Given the description of an element on the screen output the (x, y) to click on. 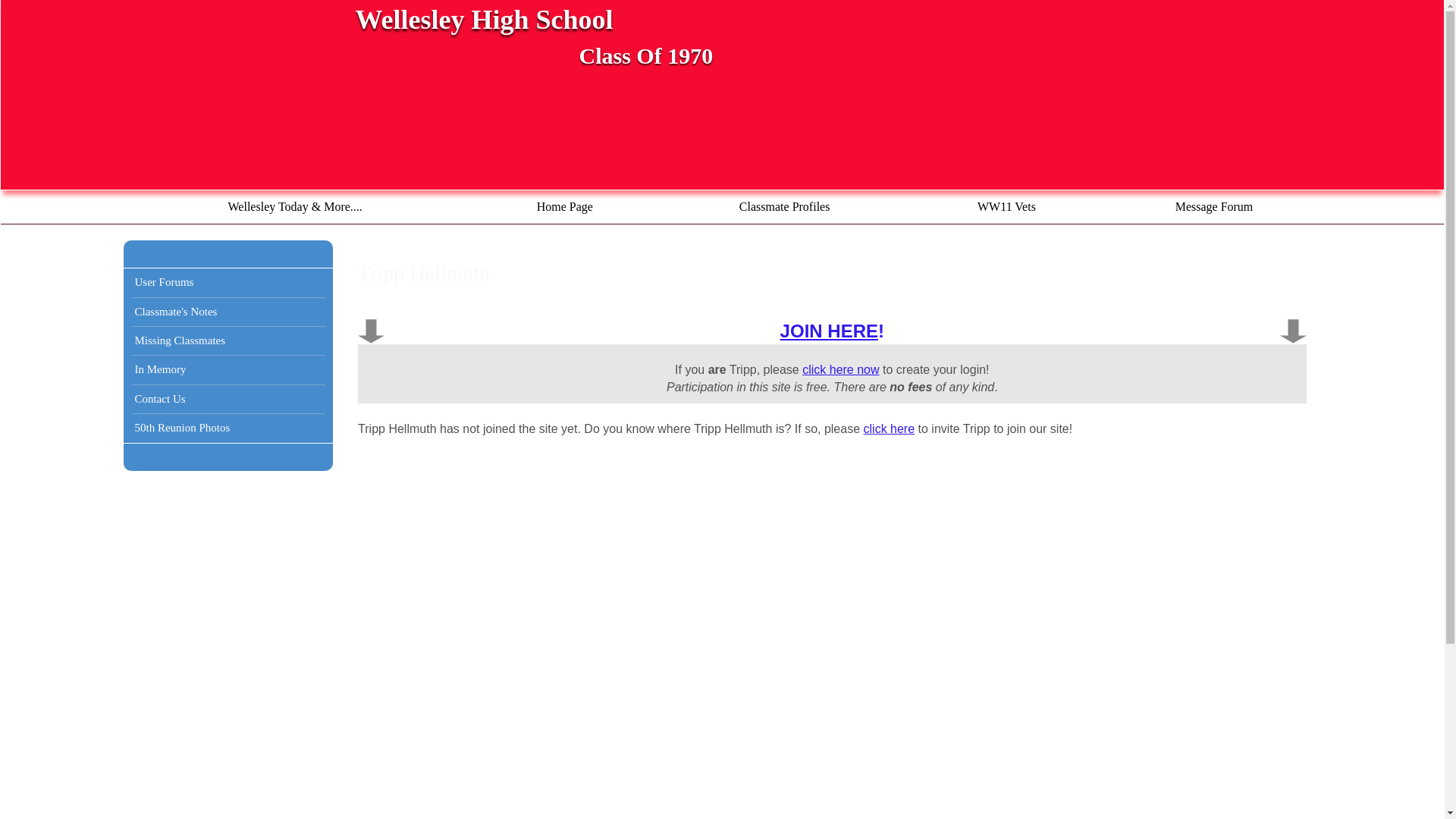
Message Forum (1214, 206)
click here (889, 428)
50th Reunion Photos (227, 427)
Contact Us (227, 399)
User Forums (227, 281)
Classmate Profiles (784, 206)
JOIN HERE! (831, 331)
In Memory (227, 369)
click here now (840, 369)
Home Page (564, 206)
